Given the description of an element on the screen output the (x, y) to click on. 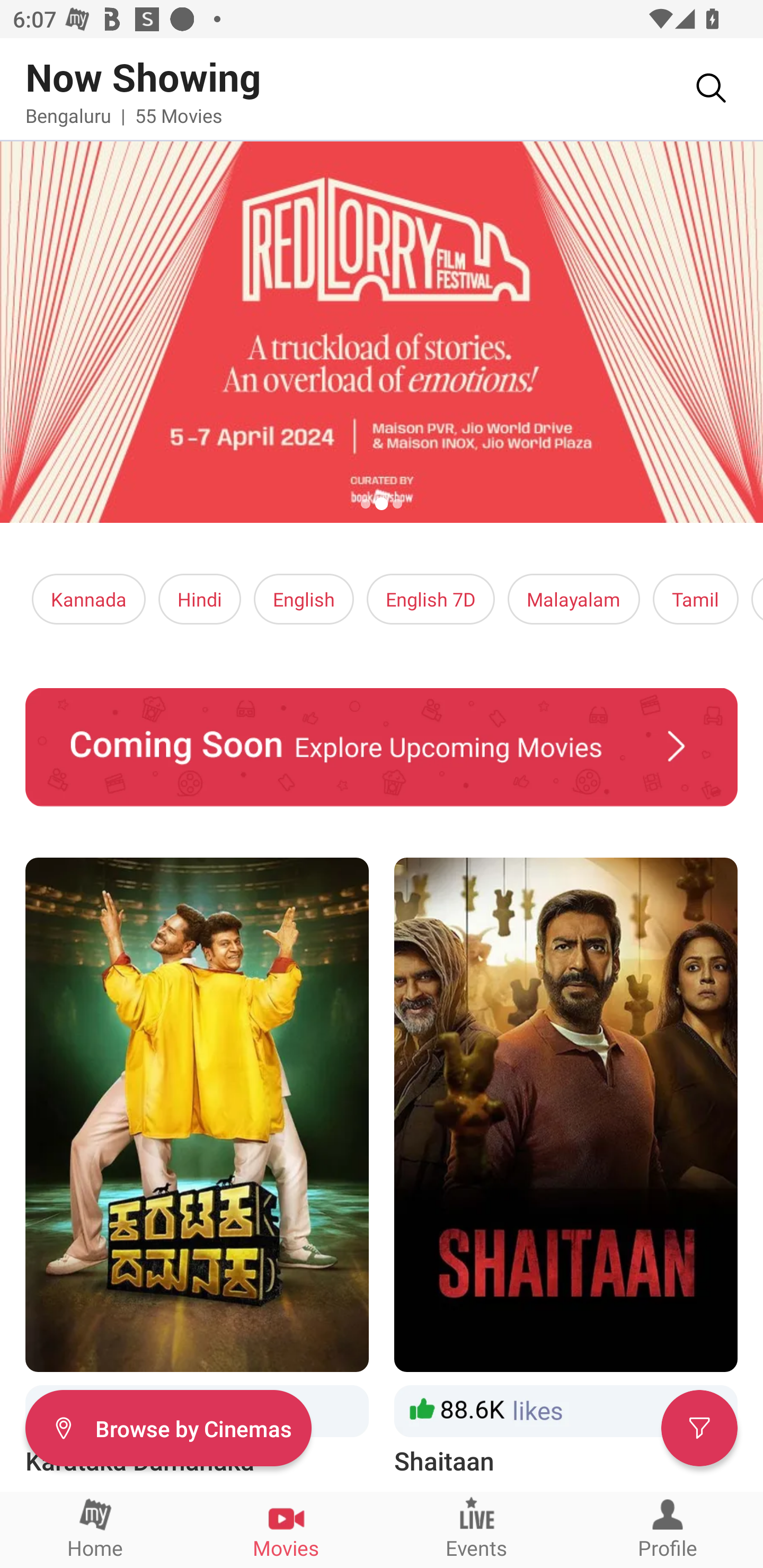
Bengaluru  |  55 Movies (123, 114)
Kannada (88, 598)
Hindi (199, 598)
English (304, 598)
English 7D (431, 598)
Malayalam (573, 598)
Tamil (695, 598)
Karataka Damanaka (196, 1167)
Shaitaan (565, 1167)
Filter Browse by Cinemas (168, 1427)
Filter (699, 1427)
Home (95, 1529)
Movies (285, 1529)
Events (476, 1529)
Profile (667, 1529)
